Given the description of an element on the screen output the (x, y) to click on. 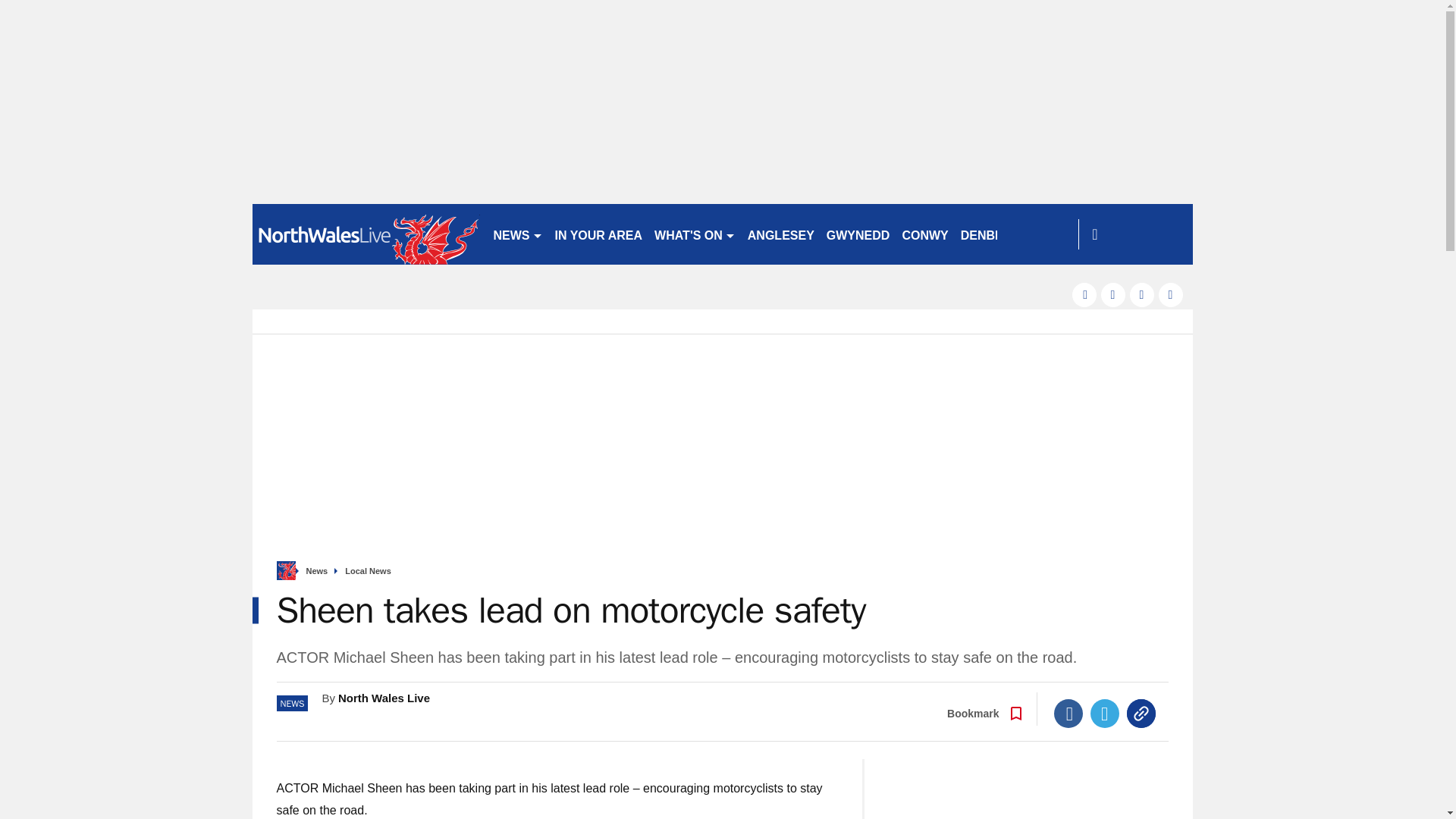
IN YOUR AREA (598, 233)
twitter (1112, 294)
CONWY (924, 233)
Facebook (1068, 713)
pinterest (1141, 294)
northwales (365, 233)
instagram (1170, 294)
ANGLESEY (781, 233)
Twitter (1104, 713)
GWYNEDD (858, 233)
WHAT'S ON (694, 233)
NEWS (517, 233)
facebook (1083, 294)
DENBIGHSHIRE (1007, 233)
